Given the description of an element on the screen output the (x, y) to click on. 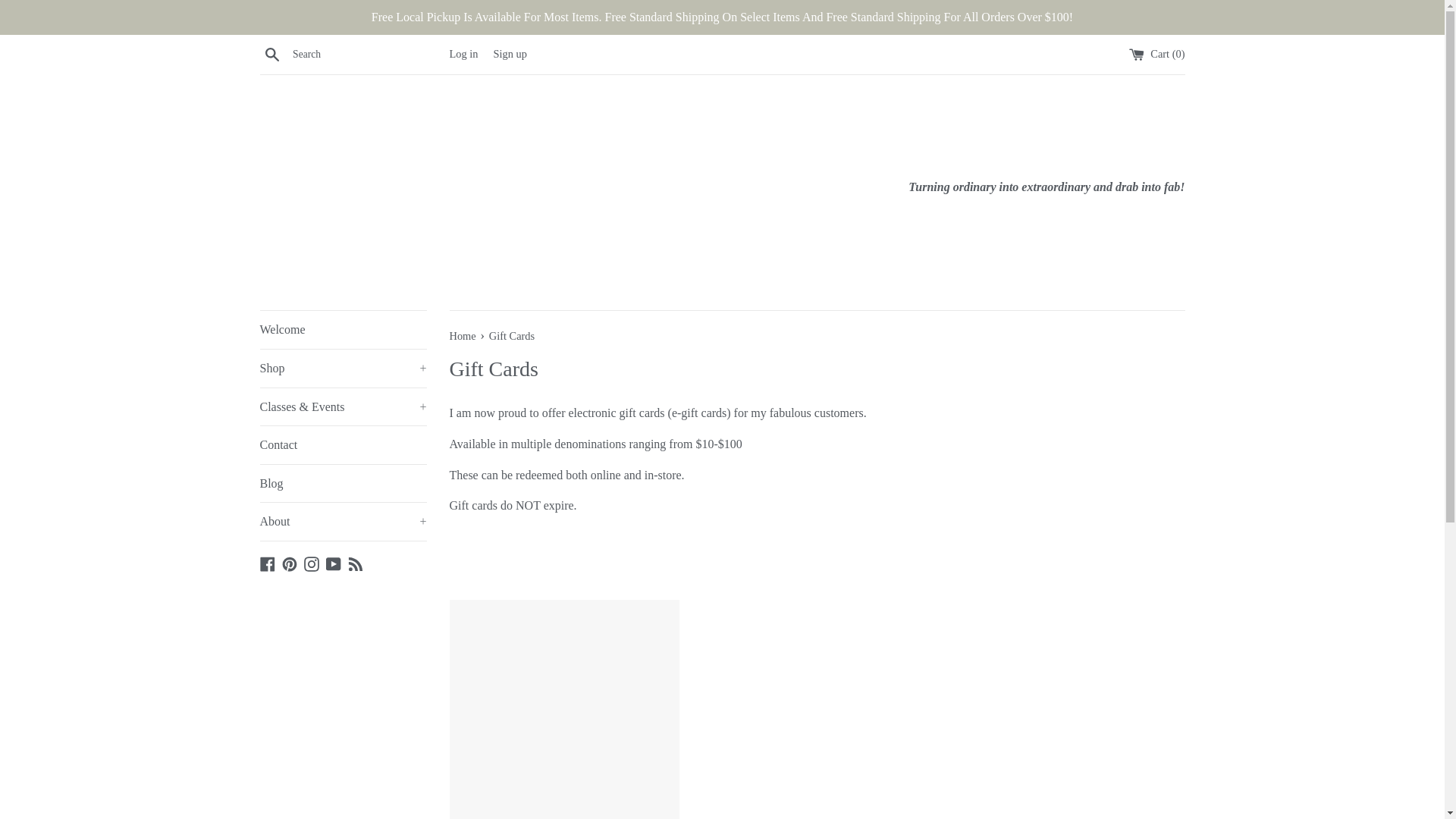
Flippin' Fabulous LLC on Pinterest (289, 562)
Search (271, 53)
Pinterest (289, 562)
Log in (462, 53)
Blog (354, 562)
Instagram (310, 562)
Flippin' Fabulous LLC on Instagram (310, 562)
Contact (342, 444)
Gift Card (563, 709)
Sign up (510, 53)
Facebook (267, 562)
Blog (342, 483)
Flippin' Fabulous LLC on YouTube (333, 562)
Welcome (342, 329)
Back to the frontpage (463, 336)
